Given the description of an element on the screen output the (x, y) to click on. 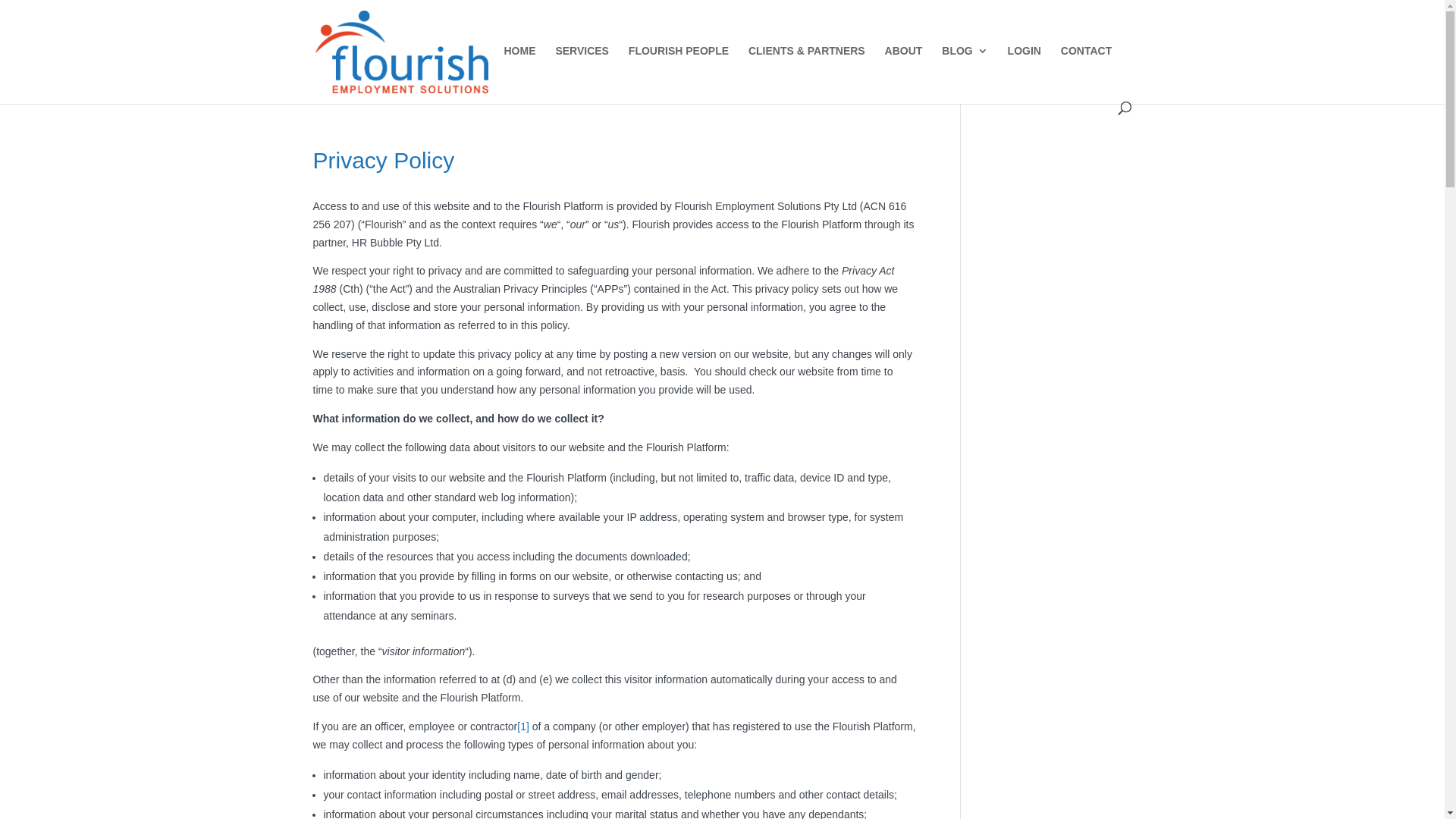
LOGIN Element type: text (1024, 73)
ABOUT Element type: text (903, 73)
FLOURISH PEOPLE Element type: text (678, 73)
BLOG Element type: text (964, 73)
[1] Element type: text (523, 726)
SERVICES Element type: text (581, 73)
CLIENTS & PARTNERS Element type: text (806, 73)
CONTACT Element type: text (1085, 73)
HOME Element type: text (519, 73)
